Given the description of an element on the screen output the (x, y) to click on. 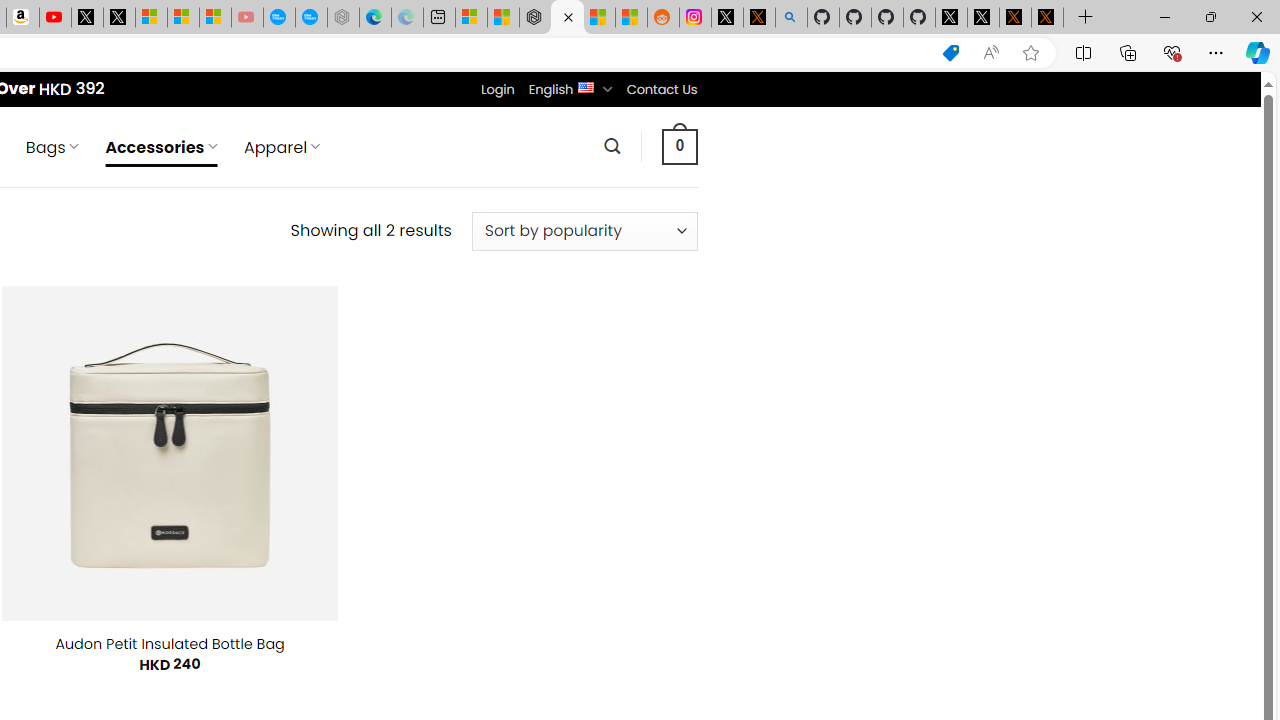
  0   (679, 146)
Log in to X / X (727, 17)
Opinion: Op-Ed and Commentary - USA TODAY (279, 17)
